Given the description of an element on the screen output the (x, y) to click on. 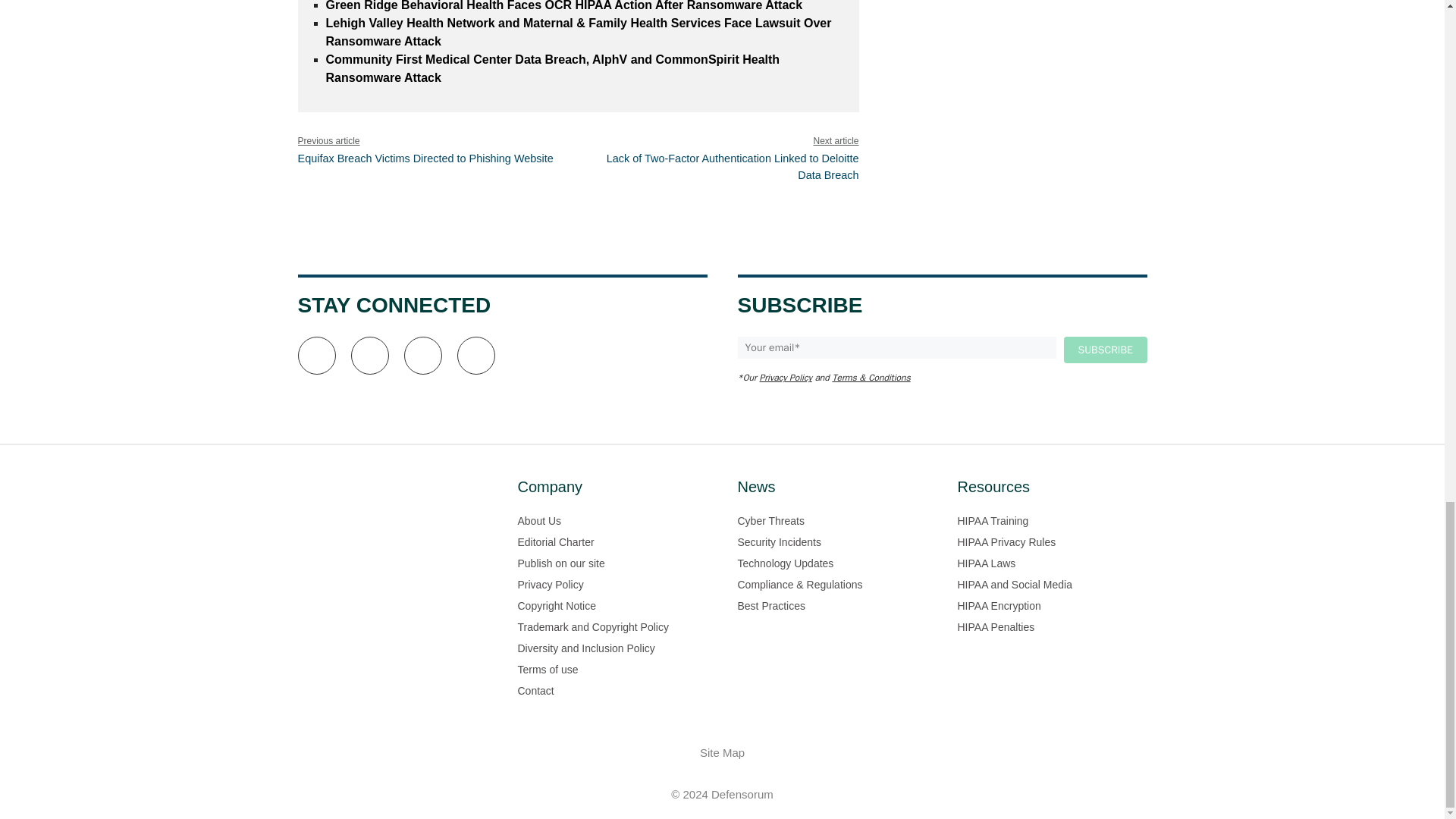
Subscribe (1104, 349)
Privacy Policy (786, 377)
Previous (425, 158)
Next (733, 166)
Equifax Breach Victims Directed to Phishing Website (425, 158)
Subscribe (1104, 349)
